Given the description of an element on the screen output the (x, y) to click on. 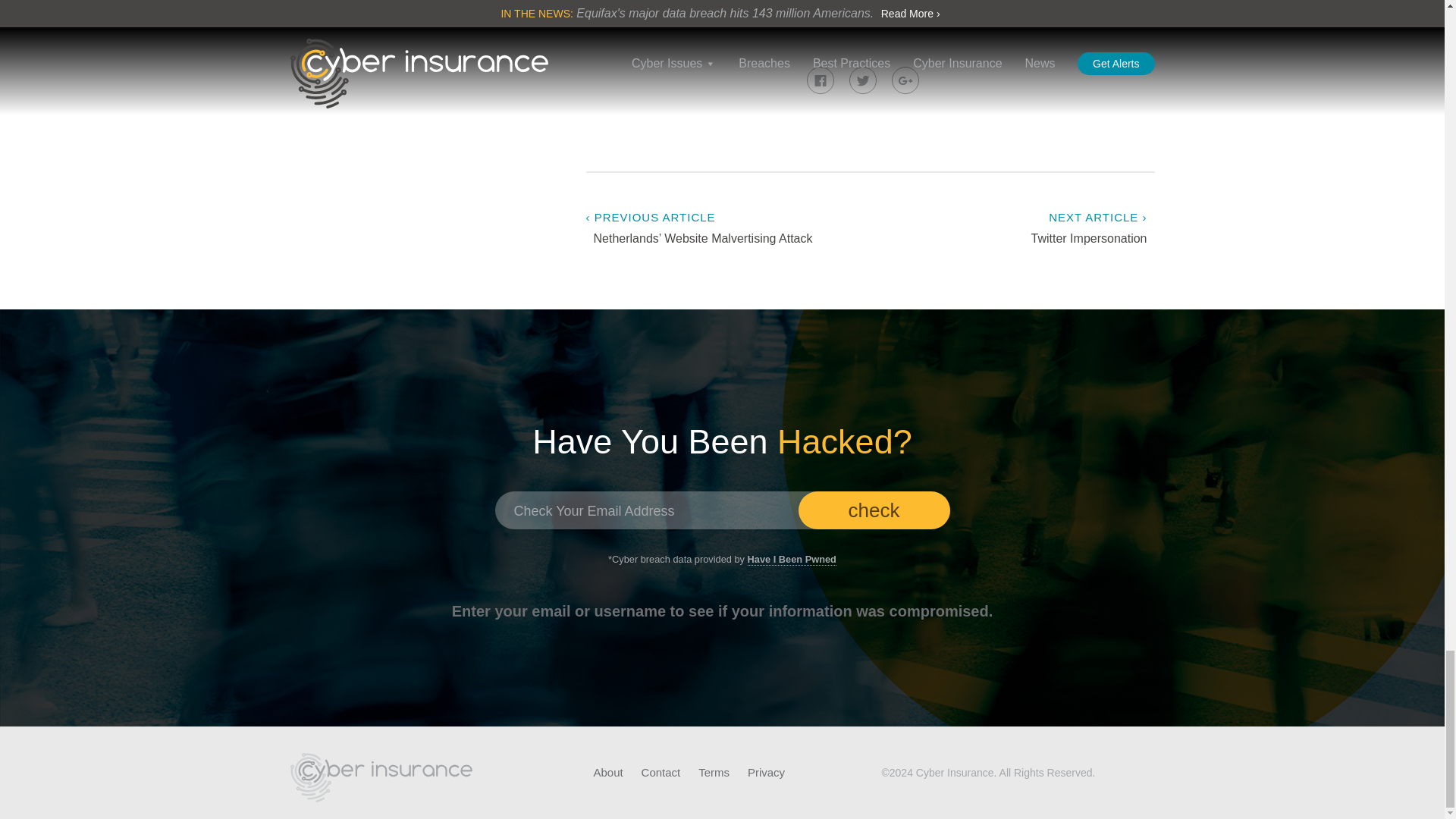
check (873, 510)
